Given the description of an element on the screen output the (x, y) to click on. 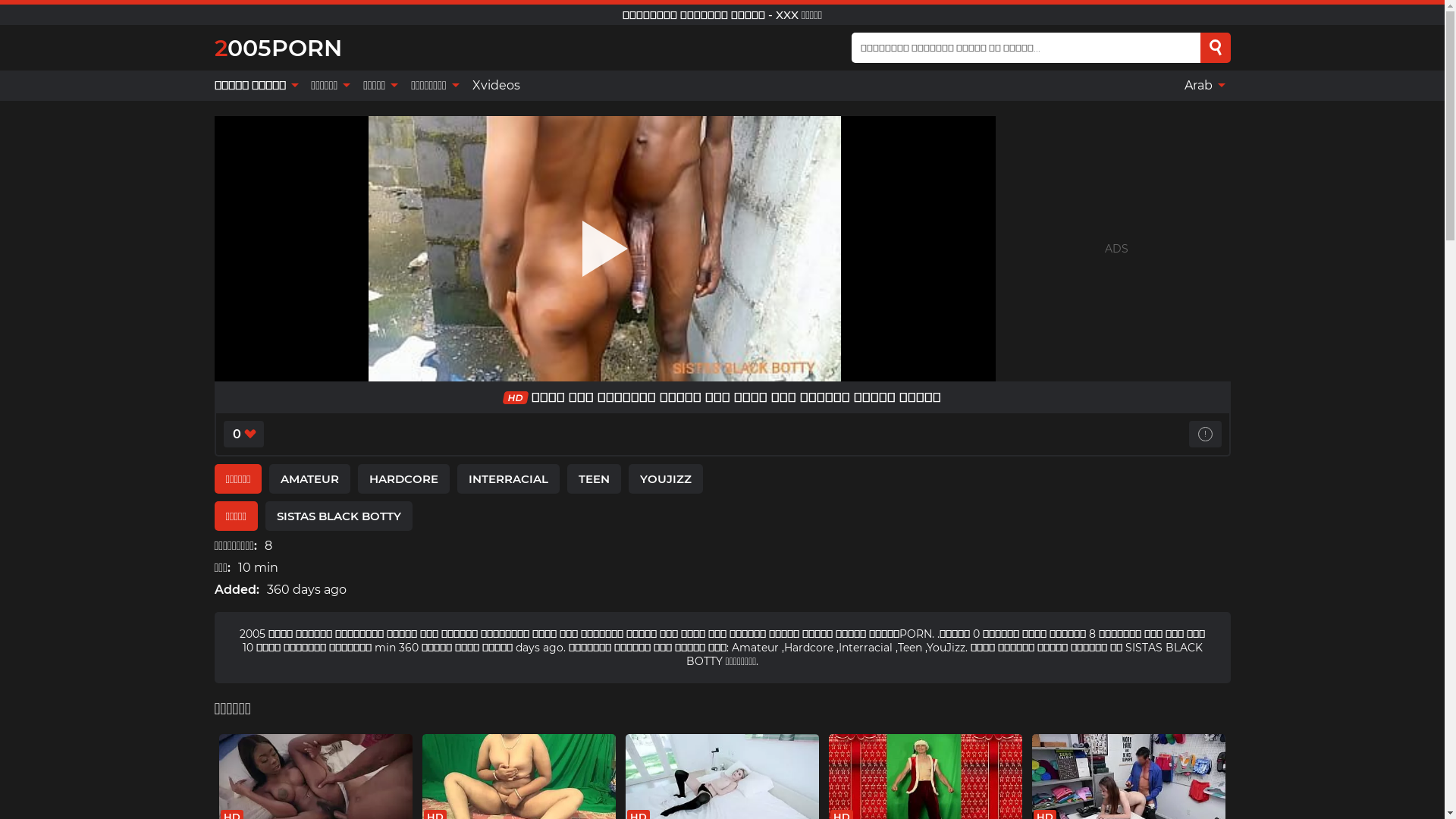
SISTAS BLACK BOTTY Element type: text (338, 515)
TEEN Element type: text (594, 478)
AMATEUR Element type: text (309, 478)
Search Element type: text (1215, 47)
Arab Element type: text (1203, 85)
HARDCORE Element type: text (403, 478)
2005PORN Element type: text (277, 47)
INTERRACIAL Element type: text (508, 478)
Xvideos Element type: text (495, 85)
YOUJIZZ Element type: text (665, 478)
